Given the description of an element on the screen output the (x, y) to click on. 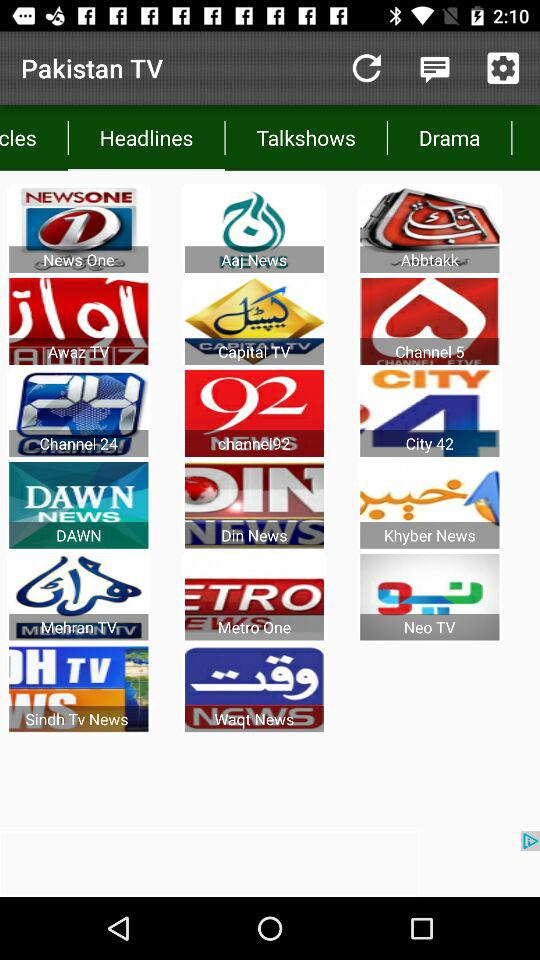
turn on icon to the right of the headlines icon (305, 137)
